Given the description of an element on the screen output the (x, y) to click on. 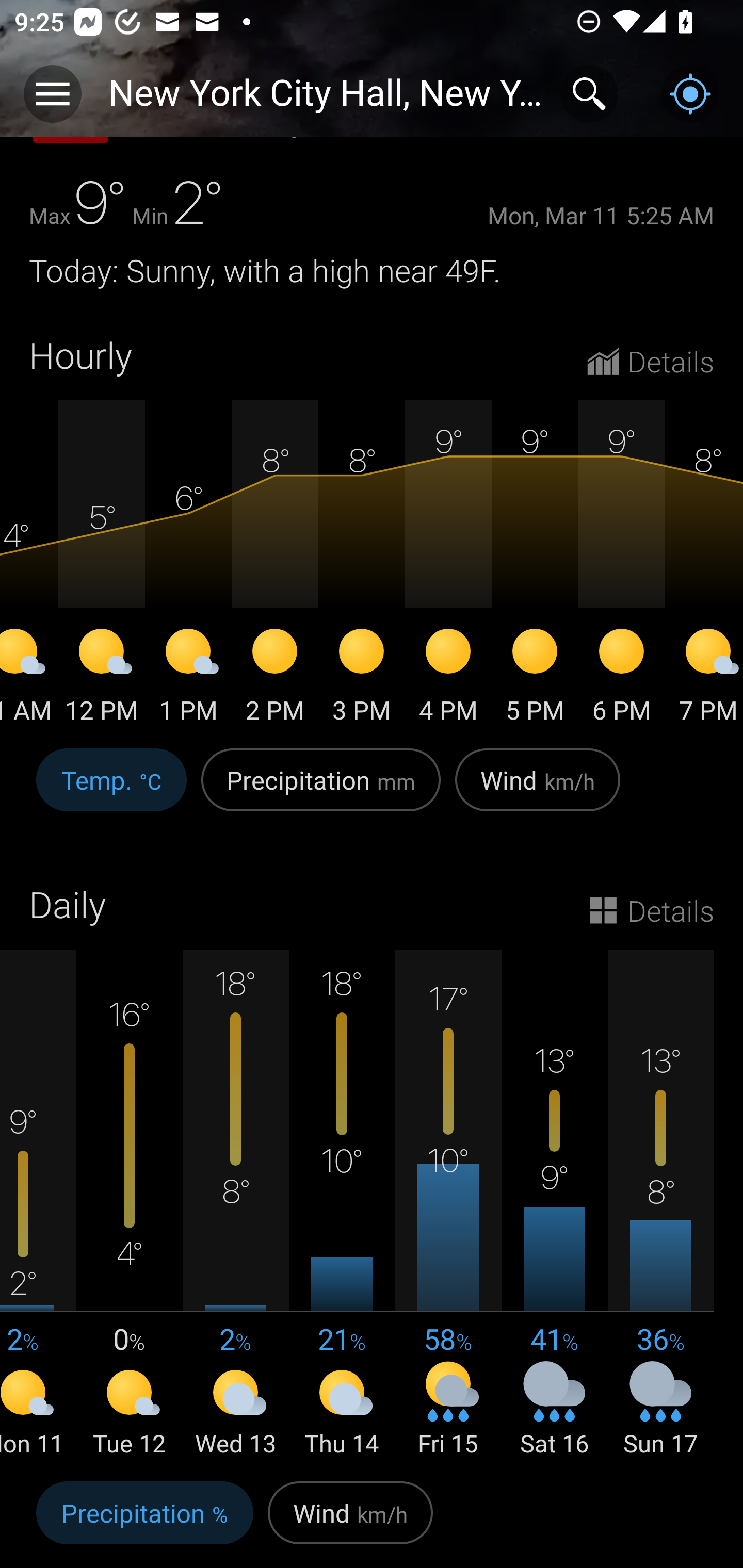
11 AM (28, 678)
12 PM (100, 678)
1 PM (187, 678)
2 PM (274, 678)
3 PM (361, 678)
4 PM (447, 678)
5 PM (534, 678)
6 PM (621, 678)
7 PM (703, 678)
Temp. °C (110, 790)
Precipitation mm (320, 790)
Wind km/h (537, 790)
9° 2° 2 % Mon 11 (38, 1204)
16° 4° 0 % Tue 12 (129, 1204)
18° 8° 2 % Wed 13 (235, 1204)
18° 10° 21 % Thu 14 (342, 1204)
17° 10° 58 % Fri 15 (448, 1204)
13° 9° 41 % Sat 16 (554, 1204)
13° 8° 36 % Sun 17 (660, 1204)
Precipitation % (144, 1520)
Wind km/h (349, 1520)
